Given the description of an element on the screen output the (x, y) to click on. 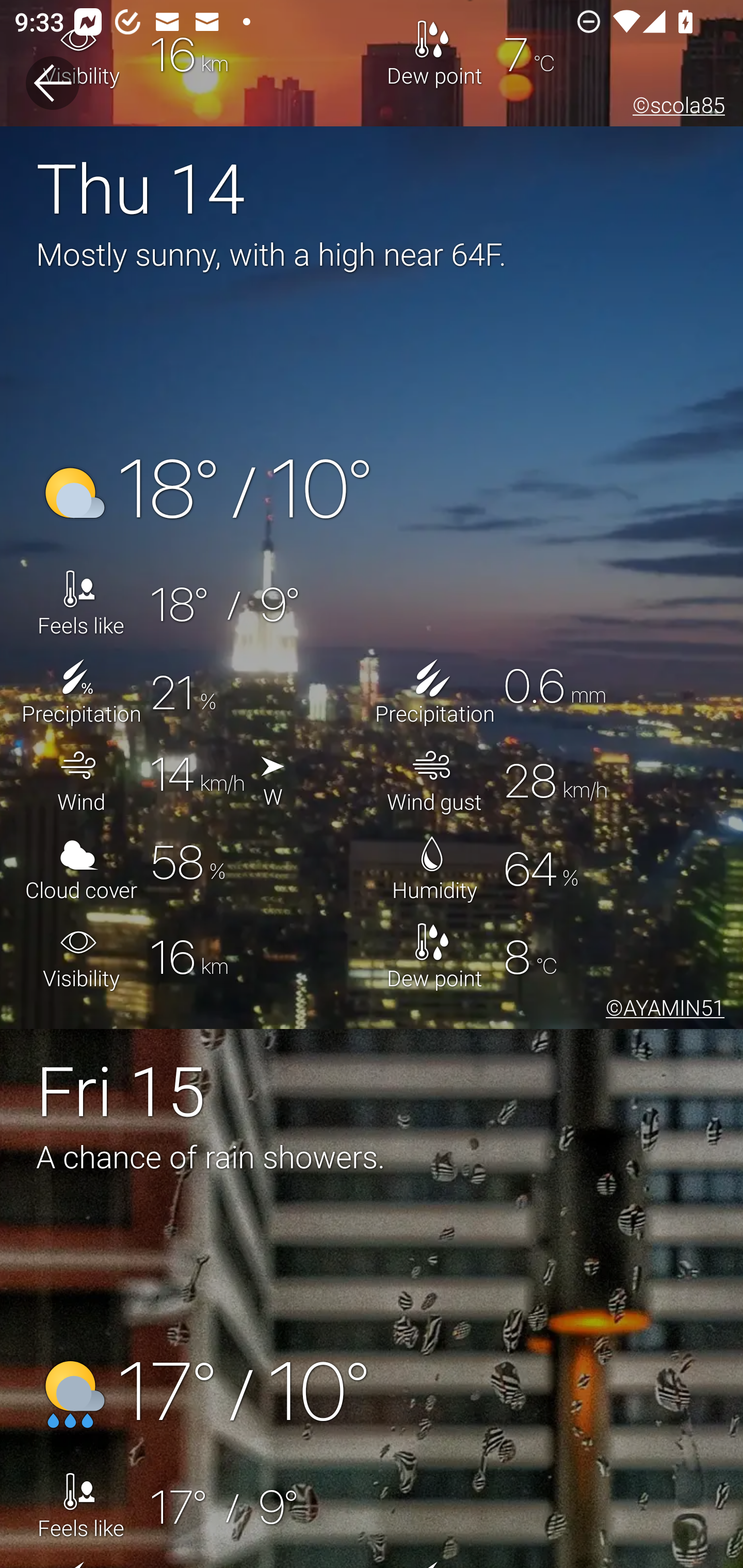
©scola85 (675, 108)
©AYAMIN51 (661, 1010)
